Given the description of an element on the screen output the (x, y) to click on. 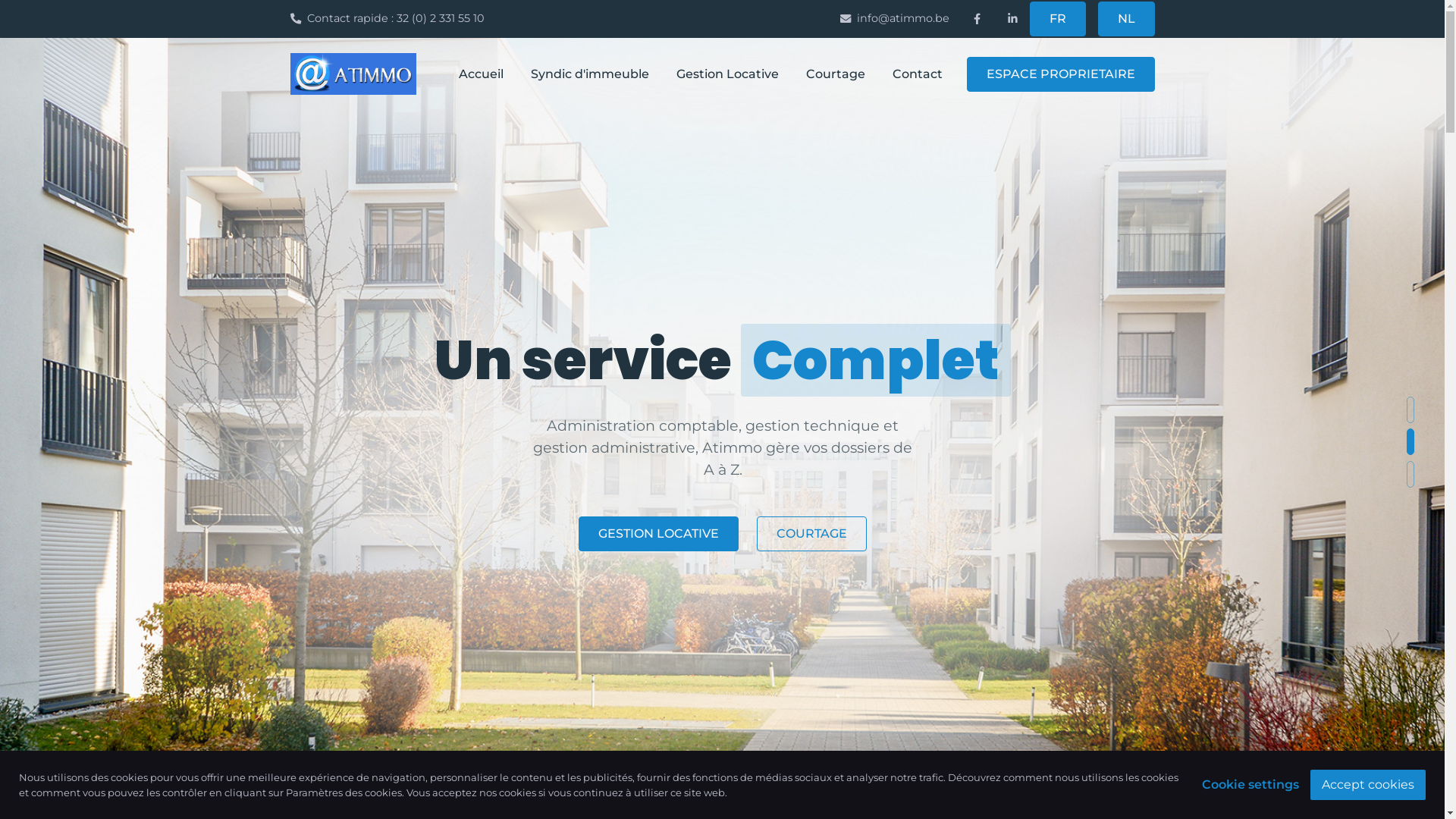
Cookie settings Element type: text (1250, 784)
Accueil Element type: text (479, 74)
Contact Element type: text (916, 74)
Contact Element type: text (930, 588)
Syndic d'immeuble Element type: text (589, 74)
info@atimmo.be Element type: text (894, 18)
FR Element type: text (1057, 18)
Courtage Element type: text (834, 74)
ESPACE PROPRIETAIRE Element type: text (1060, 73)
Contact rapide : 32 (0) 2 331 55 10 Element type: text (392, 18)
Accept cookies Element type: text (1367, 784)
My Syndic Element type: text (816, 588)
NL Element type: text (1126, 18)
Gestion Locative Element type: text (727, 74)
